Given the description of an element on the screen output the (x, y) to click on. 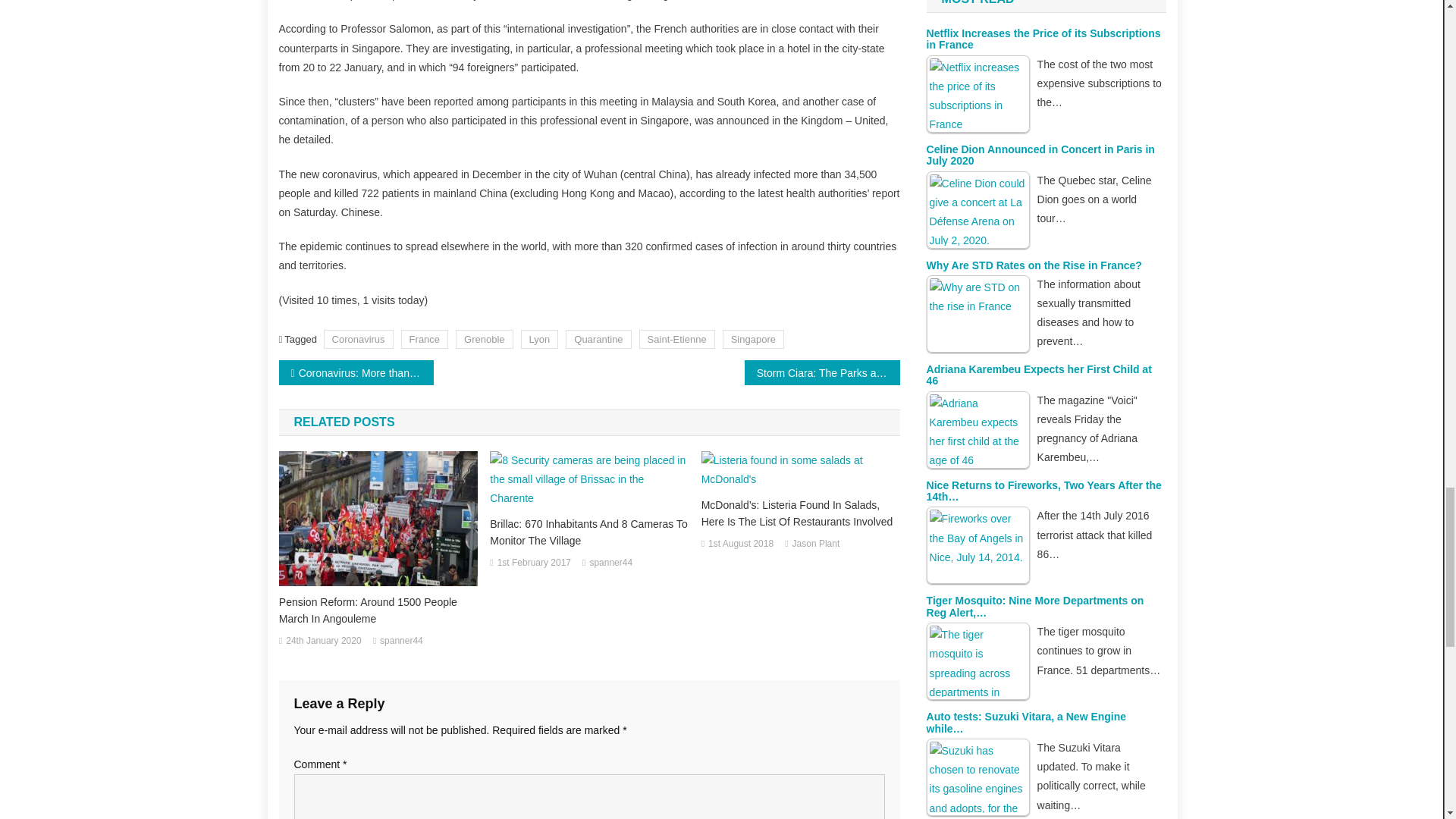
Pension Reform: Around 1500 people March in Angouleme 2 (378, 518)
